Given the description of an element on the screen output the (x, y) to click on. 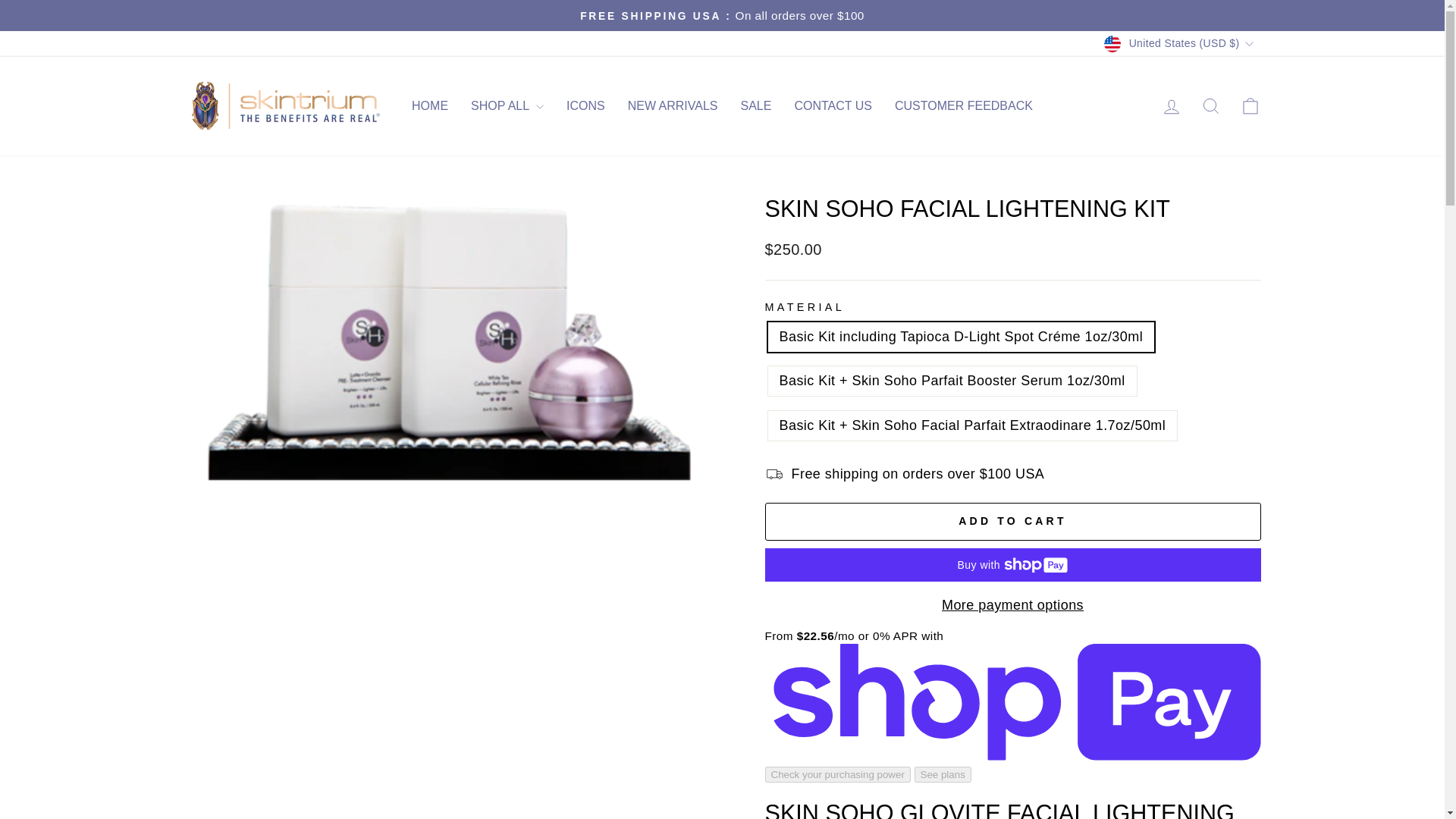
ICON-BAG-MINIMAL (1249, 106)
ACCOUNT (1170, 106)
ICON-SEARCH (1210, 106)
